Given the description of an element on the screen output the (x, y) to click on. 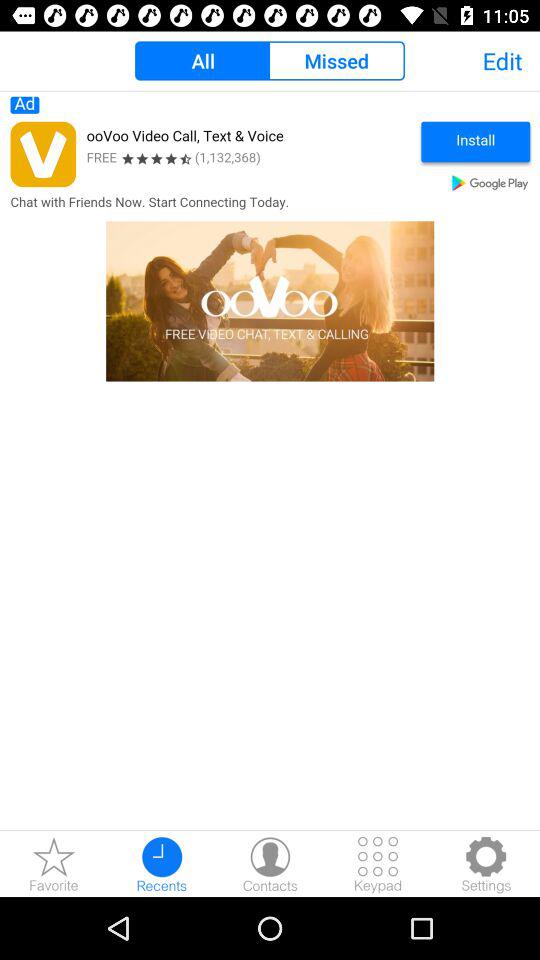
settings tool (485, 864)
